Given the description of an element on the screen output the (x, y) to click on. 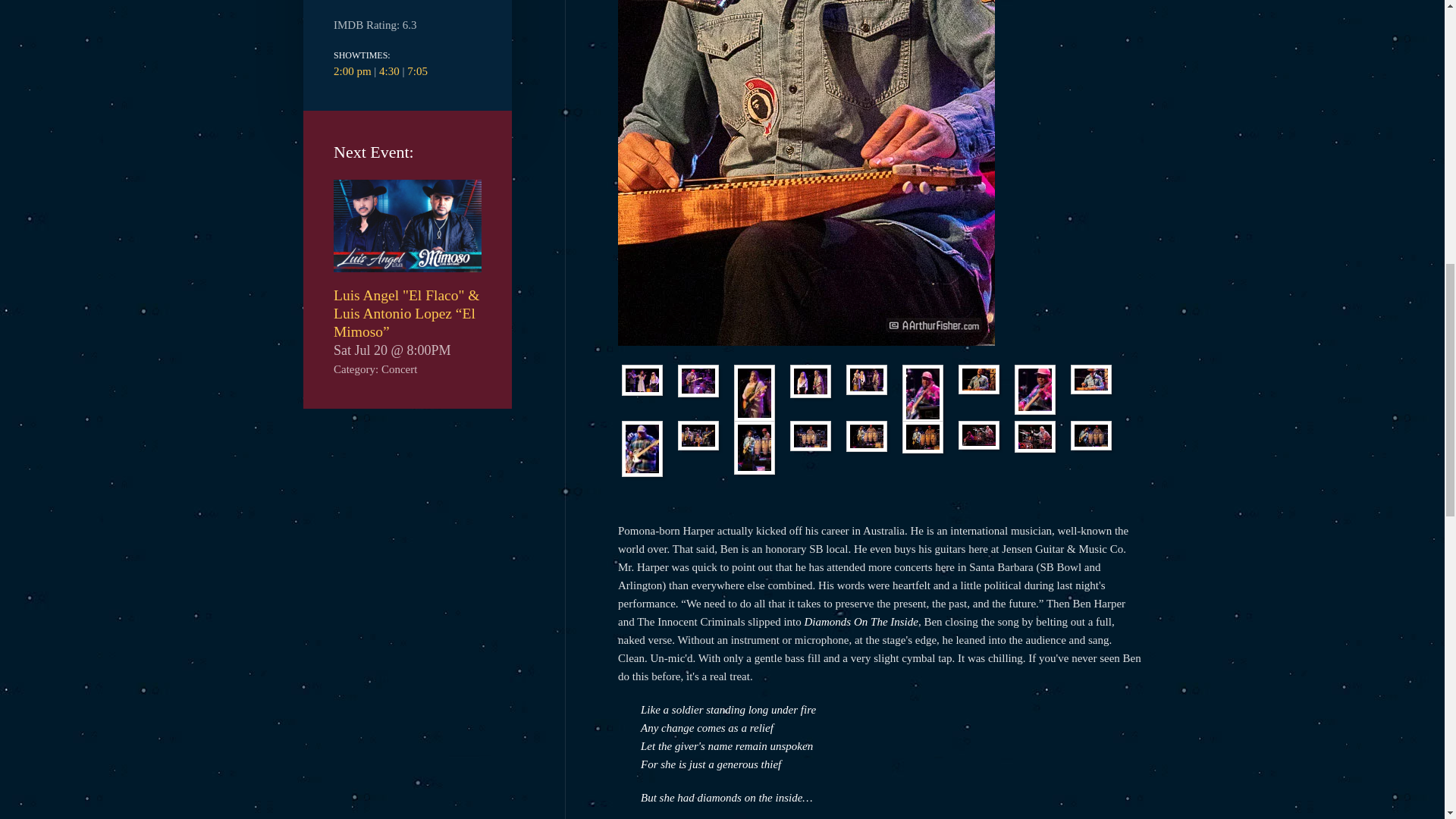
4:30 (389, 70)
7:05 (417, 70)
2:00 pm (353, 70)
